Given the description of an element on the screen output the (x, y) to click on. 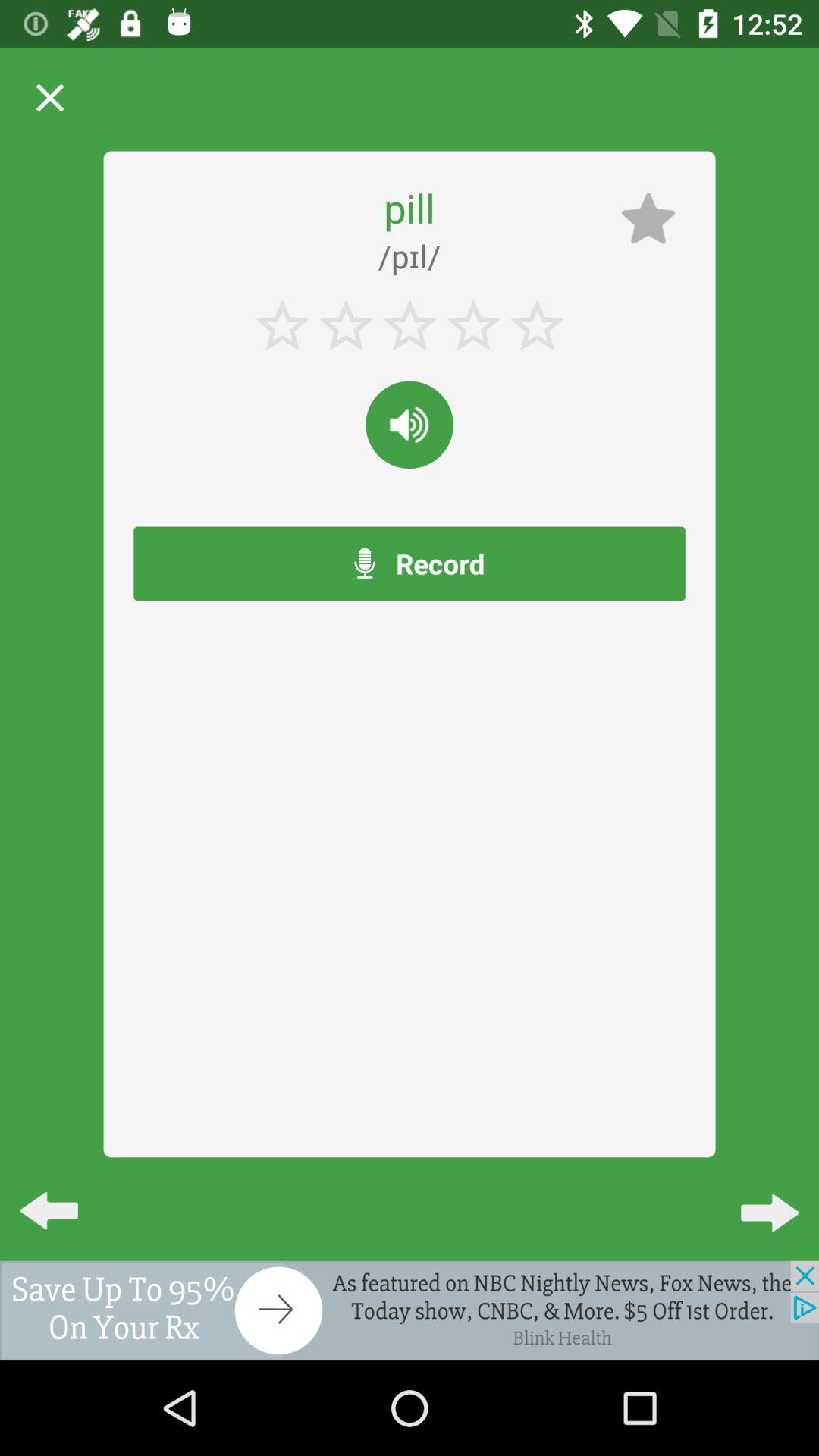
click advertisement to go to the website (409, 1310)
